Given the description of an element on the screen output the (x, y) to click on. 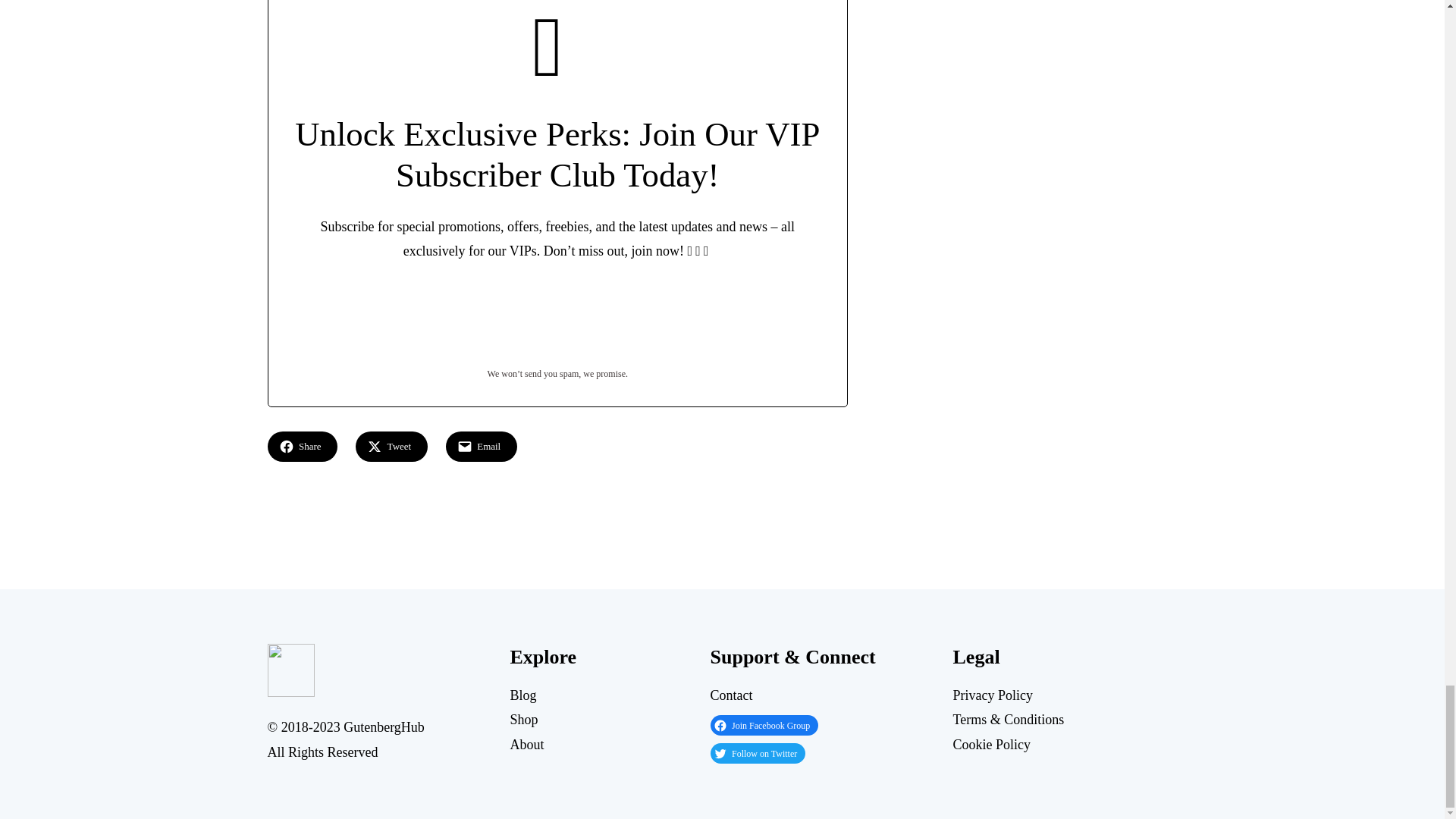
Email (480, 446)
Tweet (391, 446)
Share (301, 446)
